Given the description of an element on the screen output the (x, y) to click on. 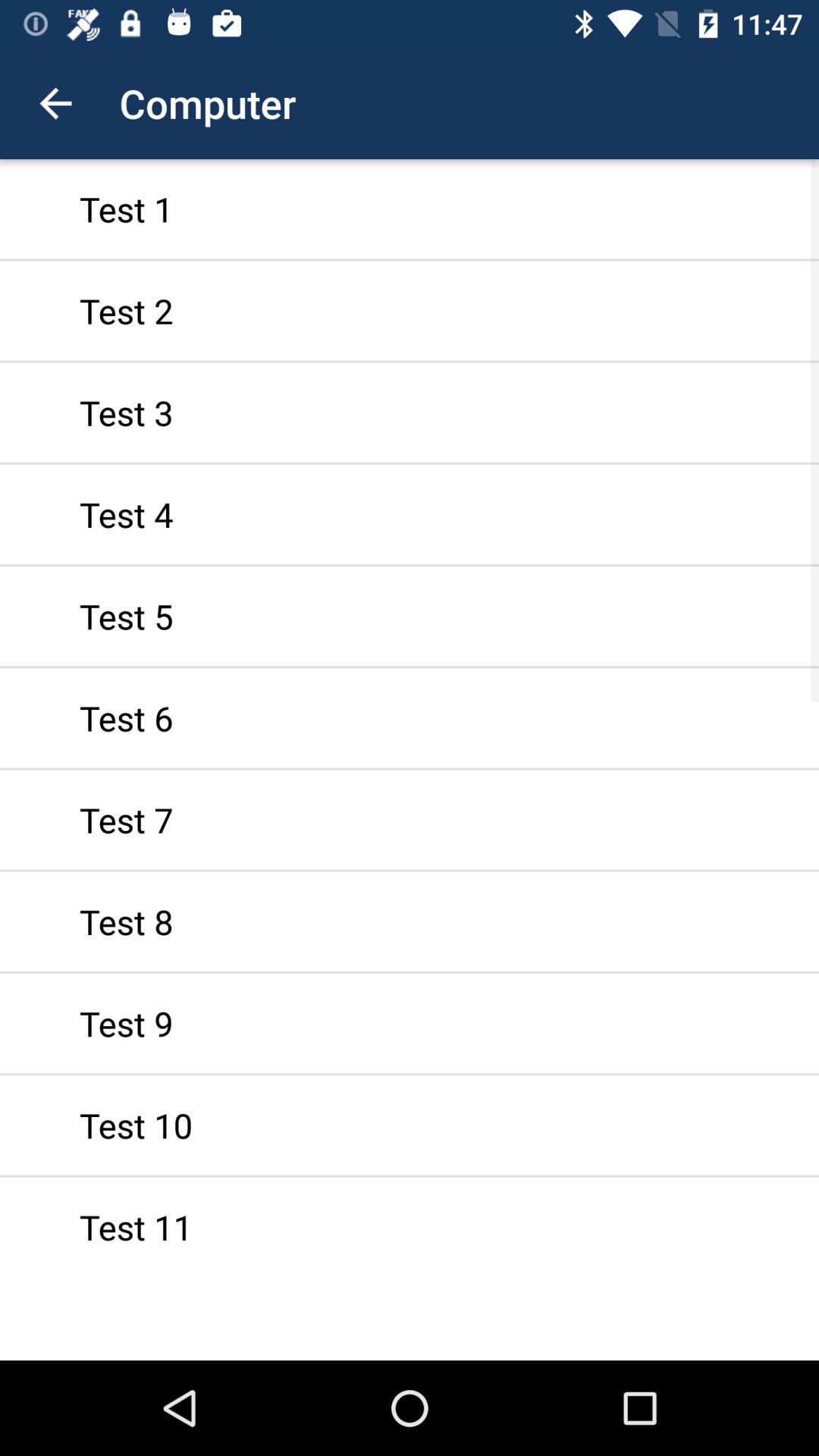
click the item below the test 9 (409, 1125)
